Given the description of an element on the screen output the (x, y) to click on. 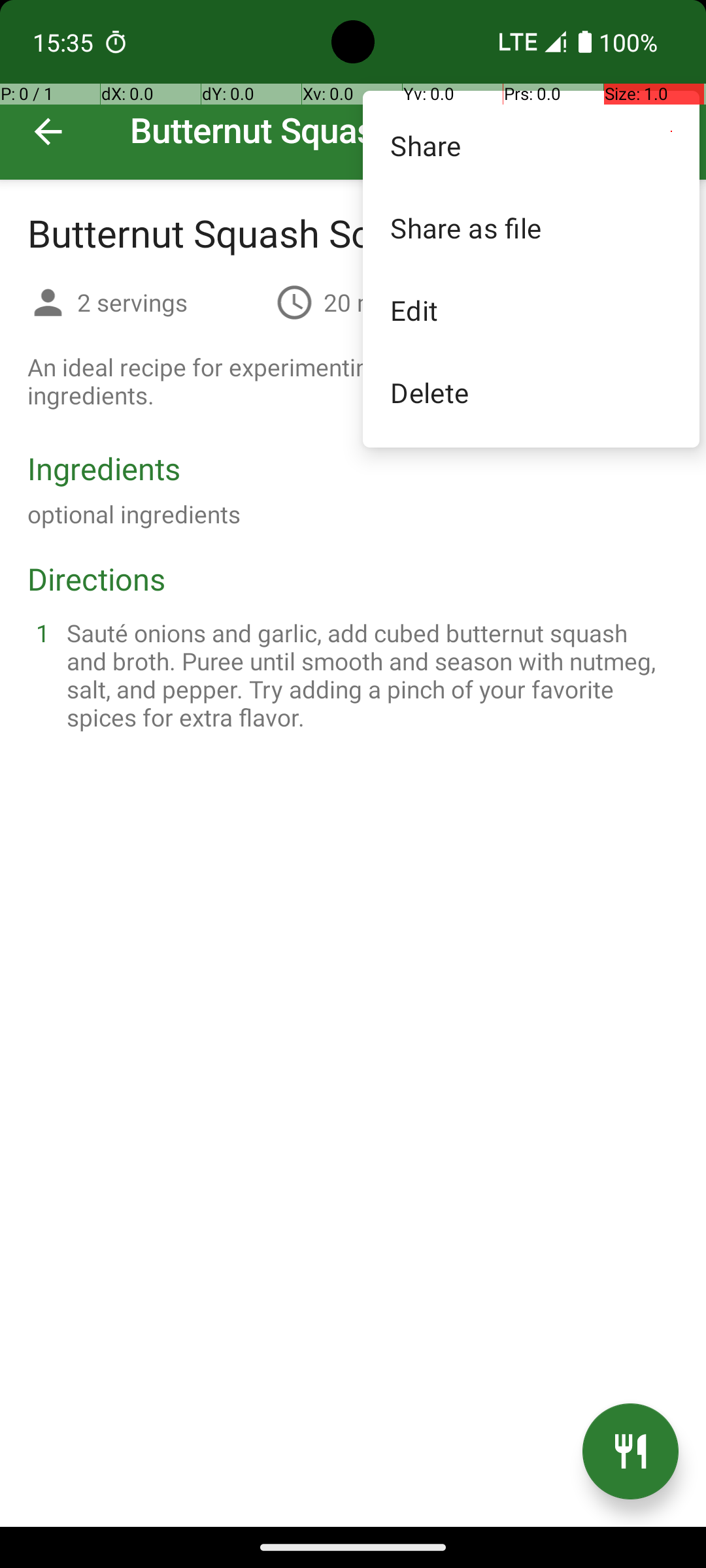
Share as file Element type: android.widget.TextView (531, 227)
